Given the description of an element on the screen output the (x, y) to click on. 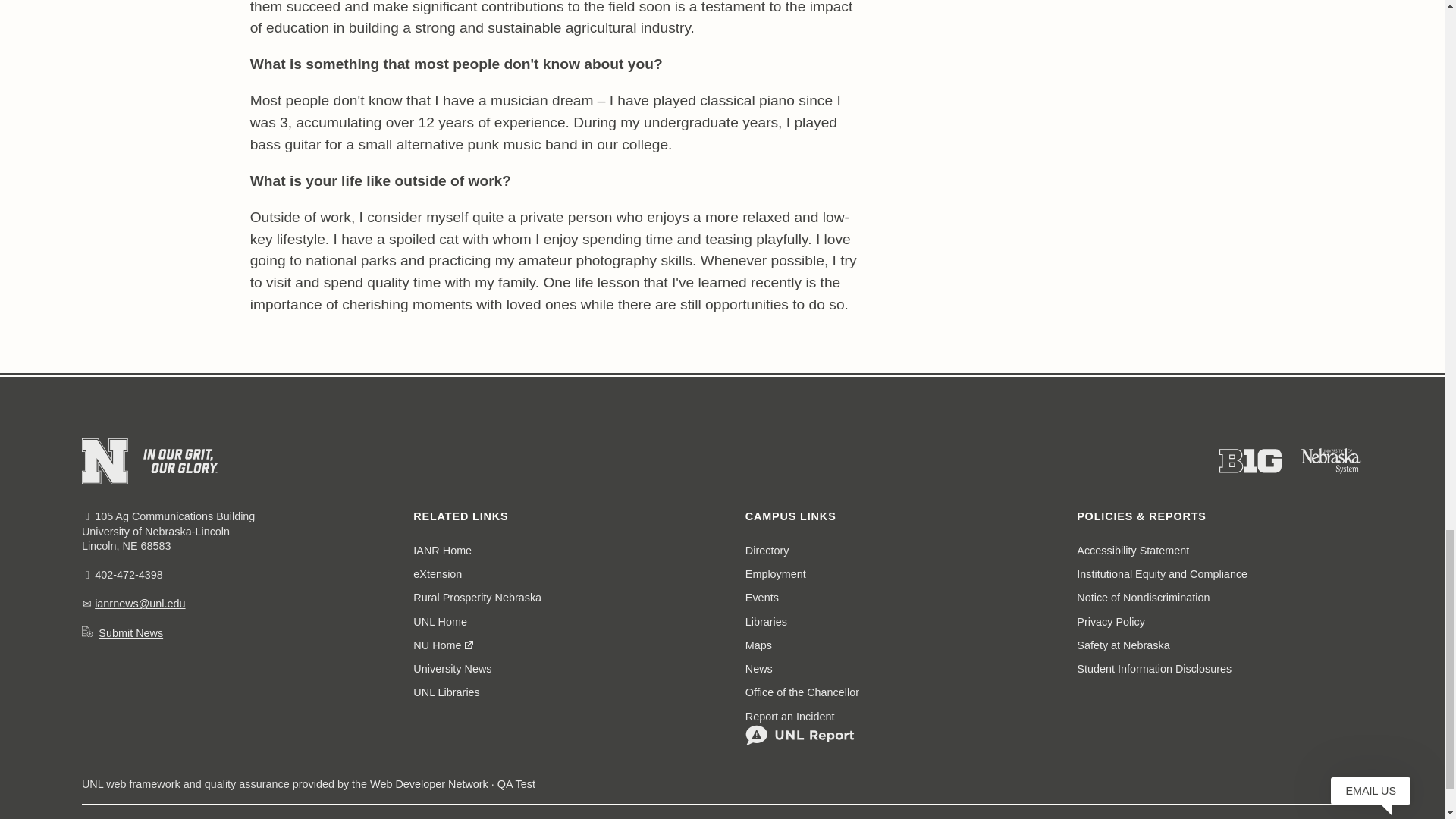
UNL Home (440, 621)
Rural Prosperity Nebraska (477, 597)
IANR (442, 550)
IANR Home (442, 550)
University News (452, 668)
UNL Libraries (446, 692)
Submit News (131, 633)
eXtension (437, 574)
NU Home (443, 645)
